Given the description of an element on the screen output the (x, y) to click on. 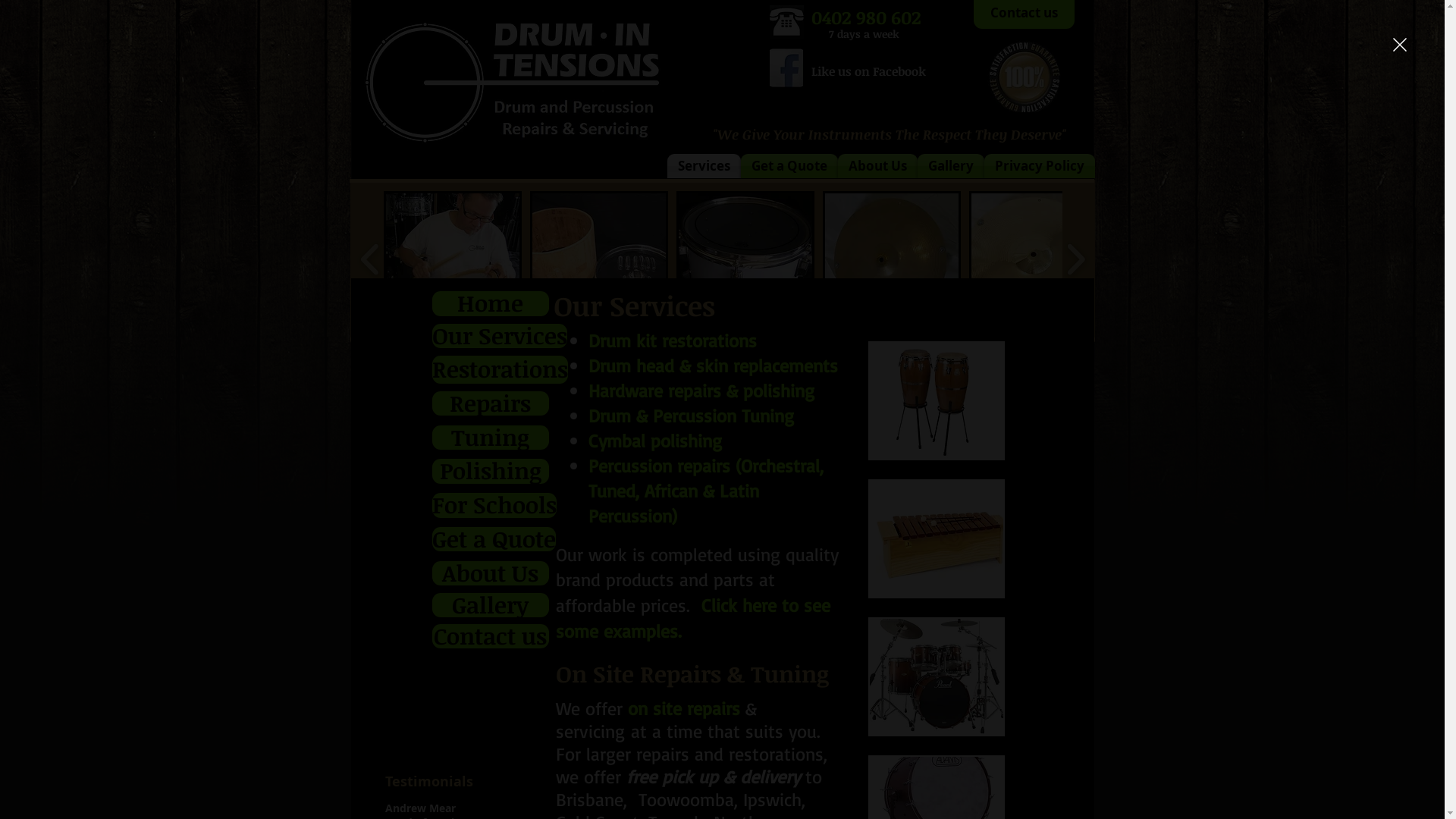
Get a Quote Element type: text (493, 538)
For Schools Element type: text (494, 504)
About Us Element type: text (490, 573)
Gallery Element type: text (490, 605)
Get a Quote Element type: text (788, 165)
About Us Element type: text (876, 165)
on site repairs Element type: text (683, 707)
Privacy Policy Element type: text (1039, 165)
Polishing Element type: text (490, 470)
Repairs Element type: text (490, 403)
Services Element type: text (703, 165)
Home Element type: text (490, 303)
Drum Intensions Facebook Page.jpg Element type: hover (785, 67)
Tuning Element type: text (490, 436)
Our Services Element type: text (499, 335)
Drum kit restorations Element type: text (672, 339)
Click here to see some examples. Element type: text (692, 617)
Contact us Element type: text (490, 635)
Gallery Element type: text (950, 165)
drumintensions.com.au+logo.jpg Element type: hover (515, 80)
Restorations Element type: text (499, 368)
drum intensions call now.jpg Element type: hover (785, 21)
Drum & Percussion Tuning Element type: text (690, 414)
